Given the description of an element on the screen output the (x, y) to click on. 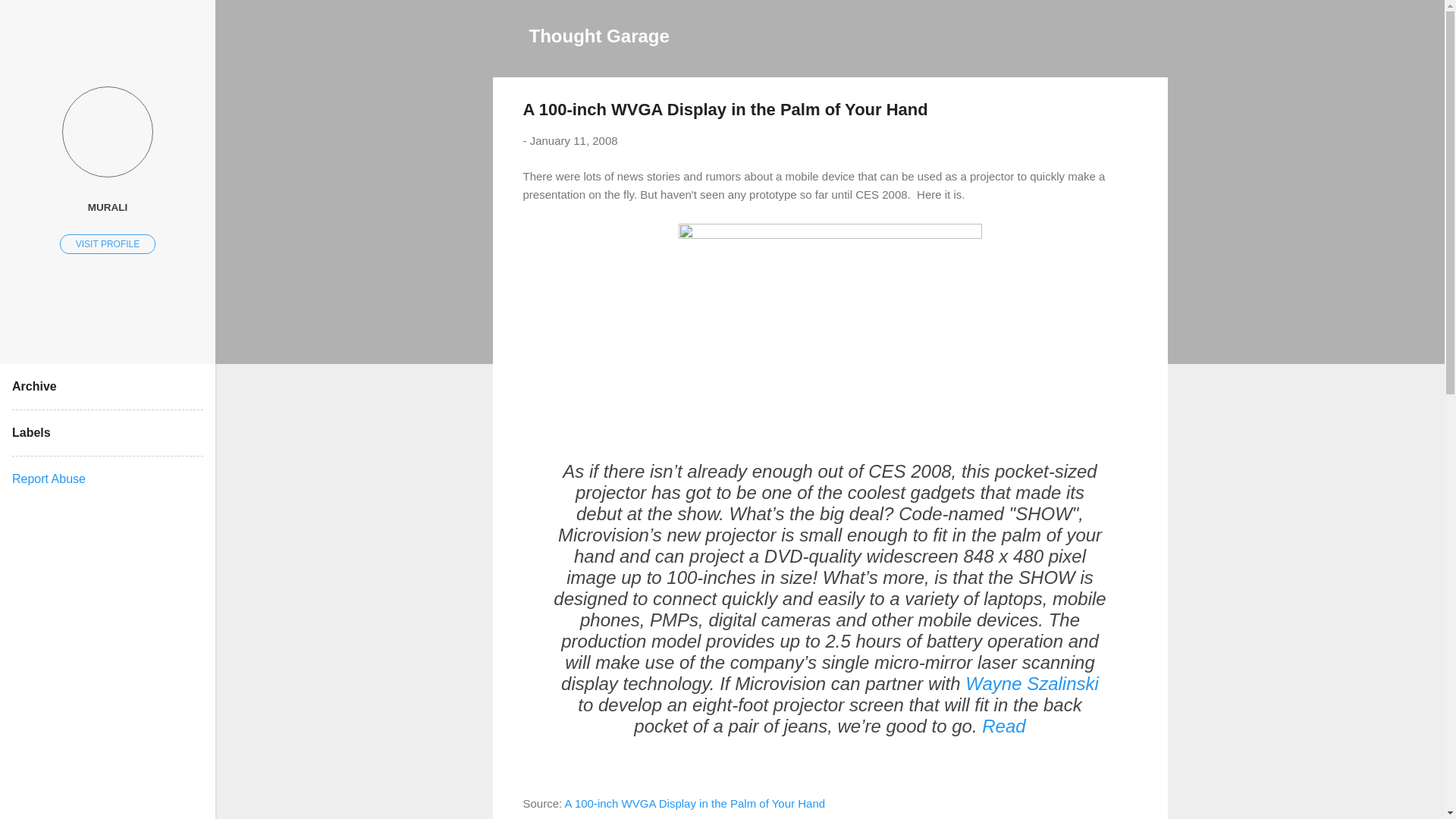
permanent link (573, 140)
A 100-inch WVGA Display in the Palm of Your Hand (694, 802)
Wayne Szalinski (1032, 683)
VISIT PROFILE (107, 243)
Thought Garage (599, 35)
MURALI (107, 206)
Read (1003, 725)
January 11, 2008 (573, 140)
Search (29, 18)
